Given the description of an element on the screen output the (x, y) to click on. 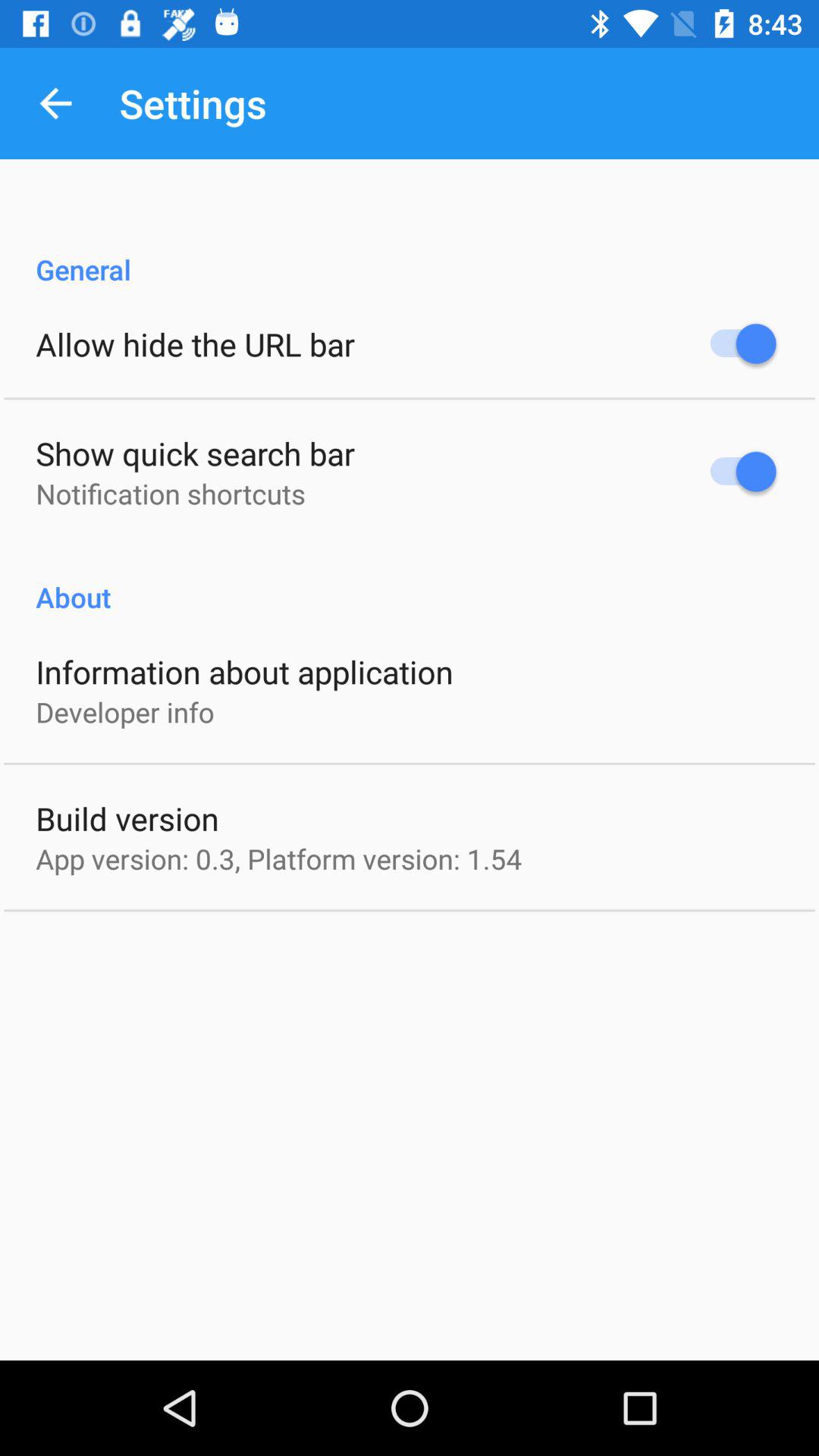
turn off the item above about icon (170, 493)
